Given the description of an element on the screen output the (x, y) to click on. 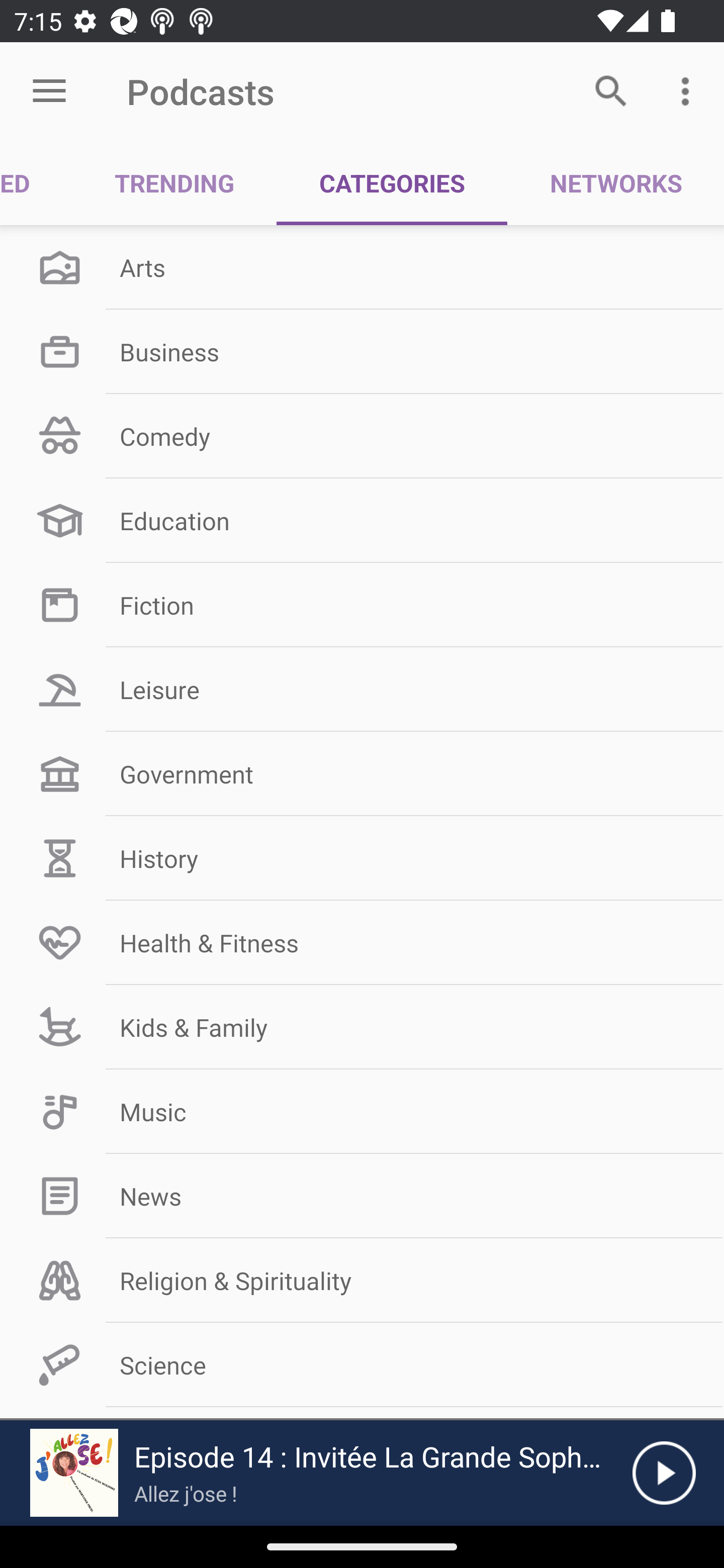
Open menu (49, 91)
Search (611, 90)
More options (688, 90)
TRENDING (174, 183)
CATEGORIES (391, 183)
NETWORKS (615, 183)
Arts (362, 266)
Business (362, 350)
Comedy (362, 435)
Education (362, 520)
Fiction (362, 604)
Leisure (362, 689)
Government (362, 774)
History (362, 858)
Health & Fitness (362, 942)
Kids & Family (362, 1026)
Music (362, 1111)
News (362, 1196)
Religion & Spirituality (362, 1280)
Science (362, 1364)
Play (663, 1472)
